Given the description of an element on the screen output the (x, y) to click on. 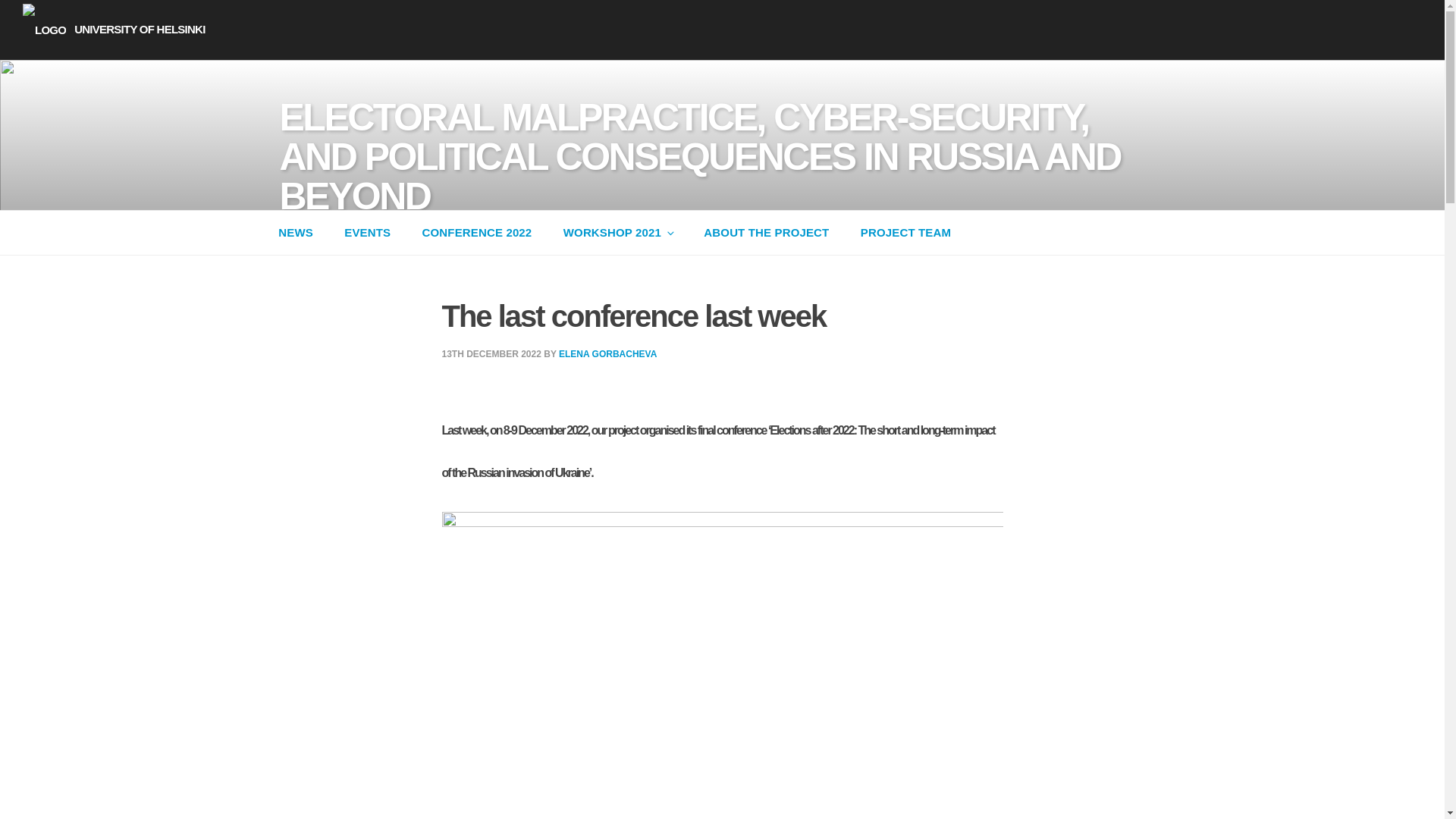
ABOUT THE PROJECT (767, 232)
ELENA GORBACHEVA (607, 353)
UNIVERSITY OF HELSINKI (114, 29)
CONFERENCE 2022 (476, 232)
13TH DECEMBER 2022 (490, 353)
NEWS (294, 232)
EVENTS (367, 232)
PROJECT TEAM (905, 232)
WORKSHOP 2021 (617, 232)
